Given the description of an element on the screen output the (x, y) to click on. 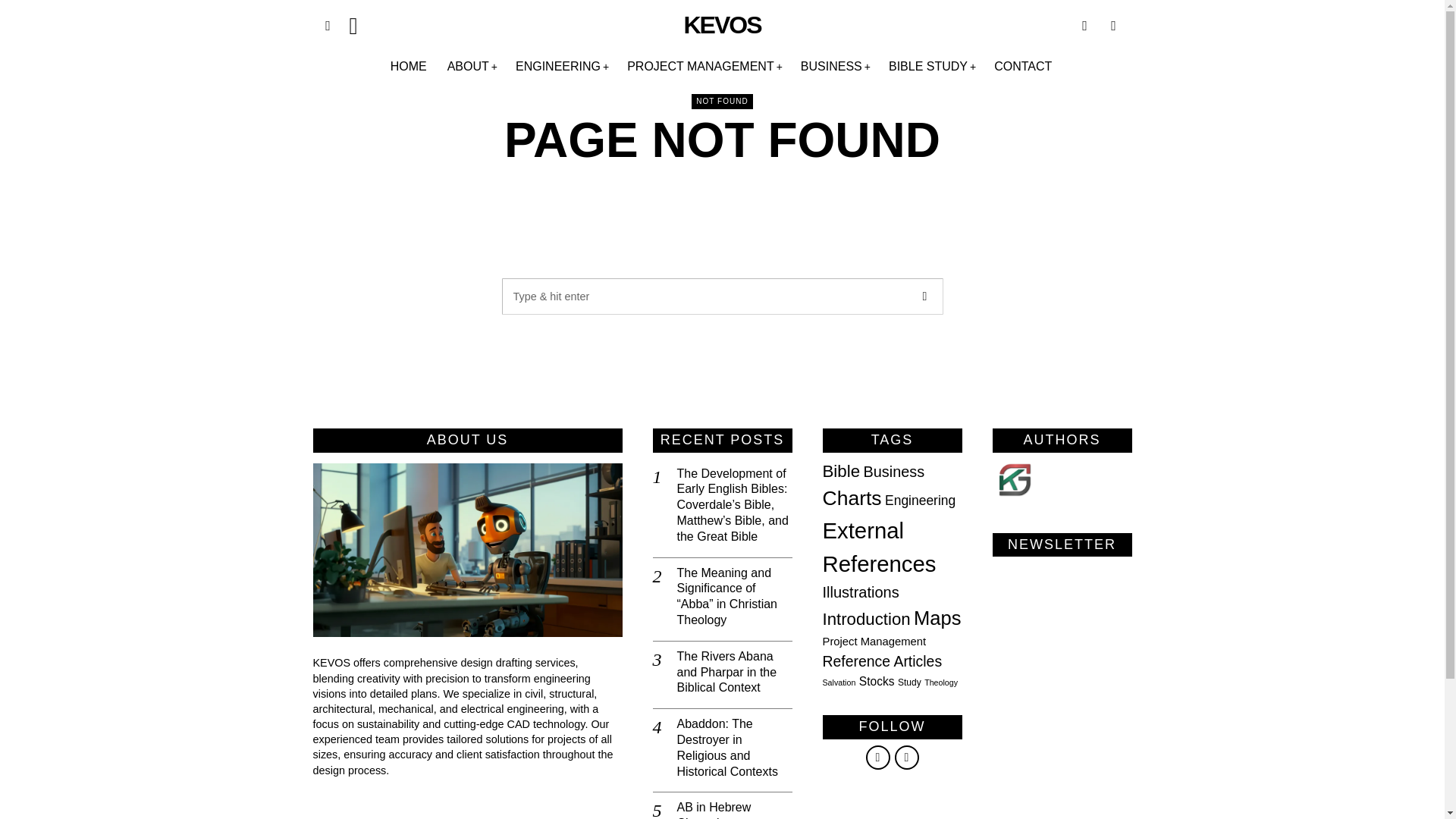
BIBLE STUDY (932, 66)
ENGINEERING (561, 66)
ABOUT (472, 66)
Go (925, 296)
PROJECT MANAGEMENT (704, 66)
BUSINESS (835, 66)
HOME (409, 66)
K.G.J (1012, 479)
KEVOS (721, 25)
